Given the description of an element on the screen output the (x, y) to click on. 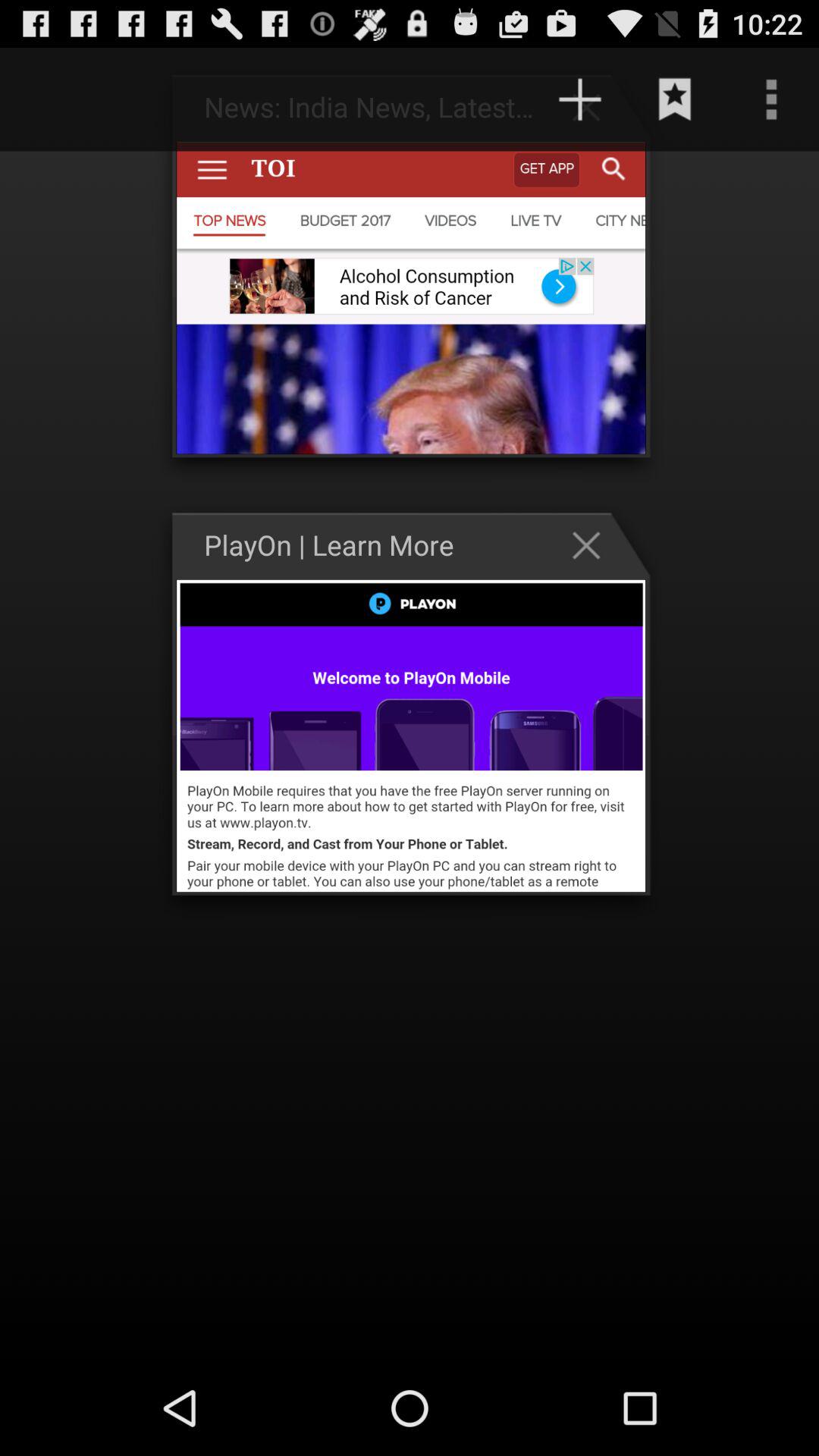
swipe to http www playon item (453, 99)
